Given the description of an element on the screen output the (x, y) to click on. 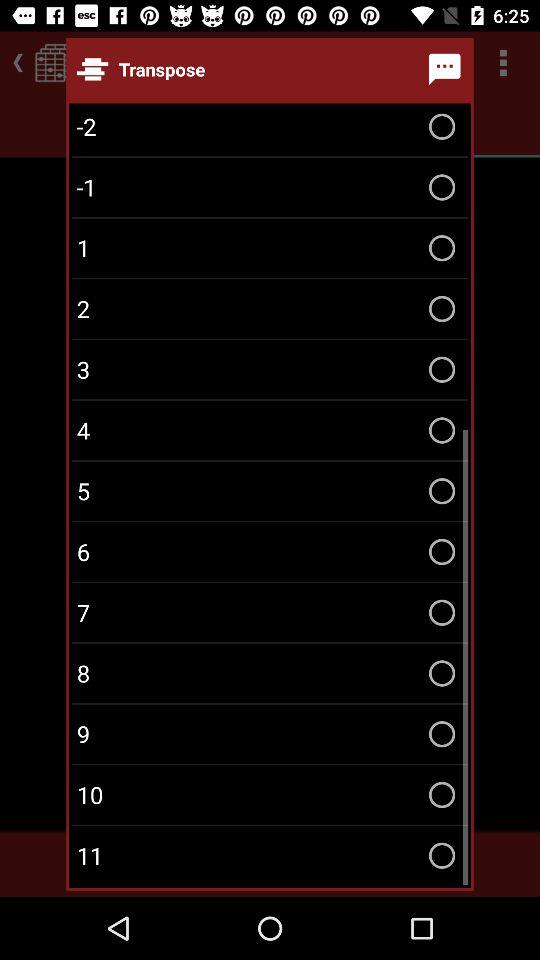
press the icon below the 2 icon (269, 369)
